Given the description of an element on the screen output the (x, y) to click on. 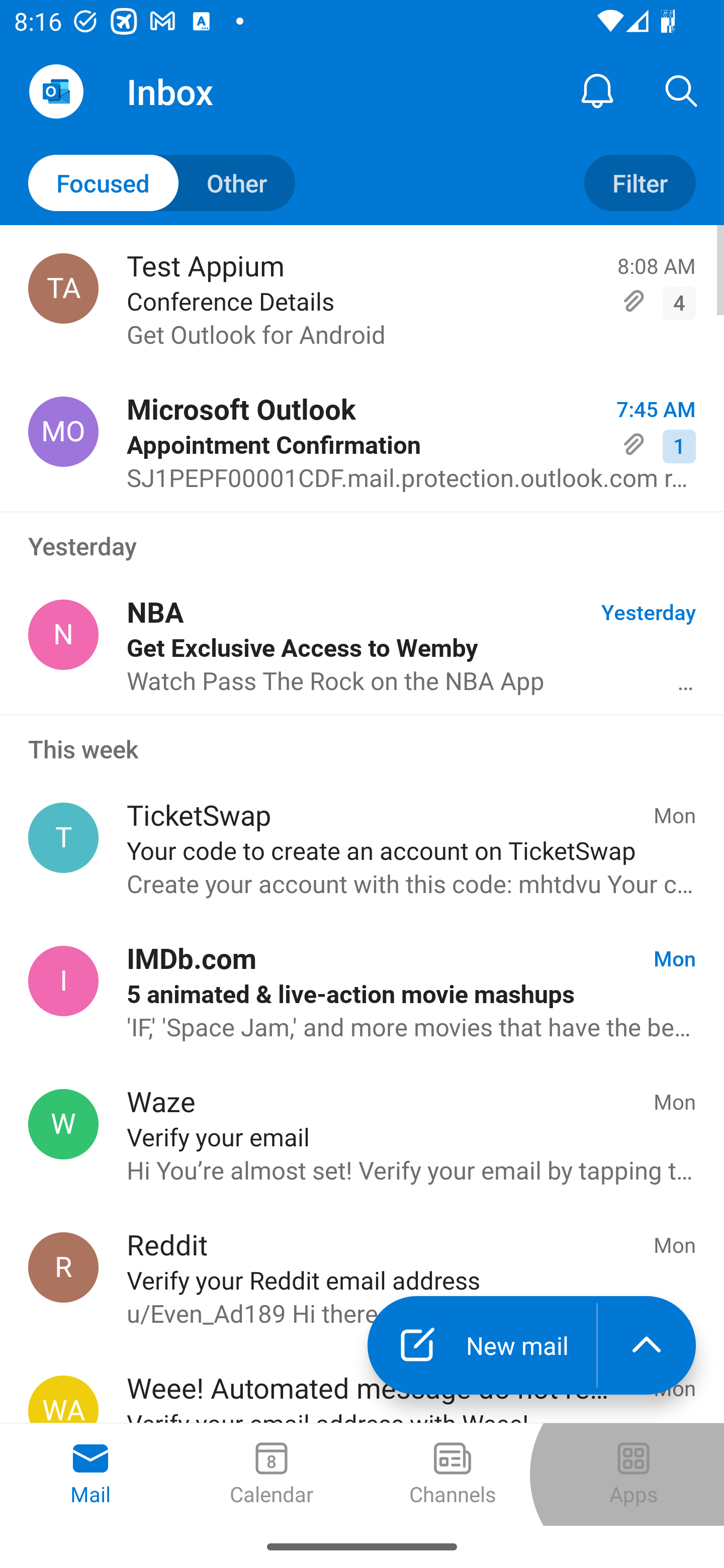
Notification Center (597, 90)
Search, ,  (681, 90)
Open Navigation Drawer (55, 91)
Toggle to other mails (161, 183)
Filter (639, 183)
Test Appium, testappium002@outlook.com (63, 288)
NBA, NBA@email.nba.com (63, 633)
TicketSwap, info@ticketswap.com (63, 837)
IMDb.com, do-not-reply@imdb.com (63, 980)
Waze, noreply@waze.com (63, 1123)
Reddit, noreply@reddit.com (63, 1267)
New mail (481, 1344)
launch the extended action menu (646, 1344)
Calendar (271, 1474)
Channels (452, 1474)
Apps (633, 1474)
